Given the description of an element on the screen output the (x, y) to click on. 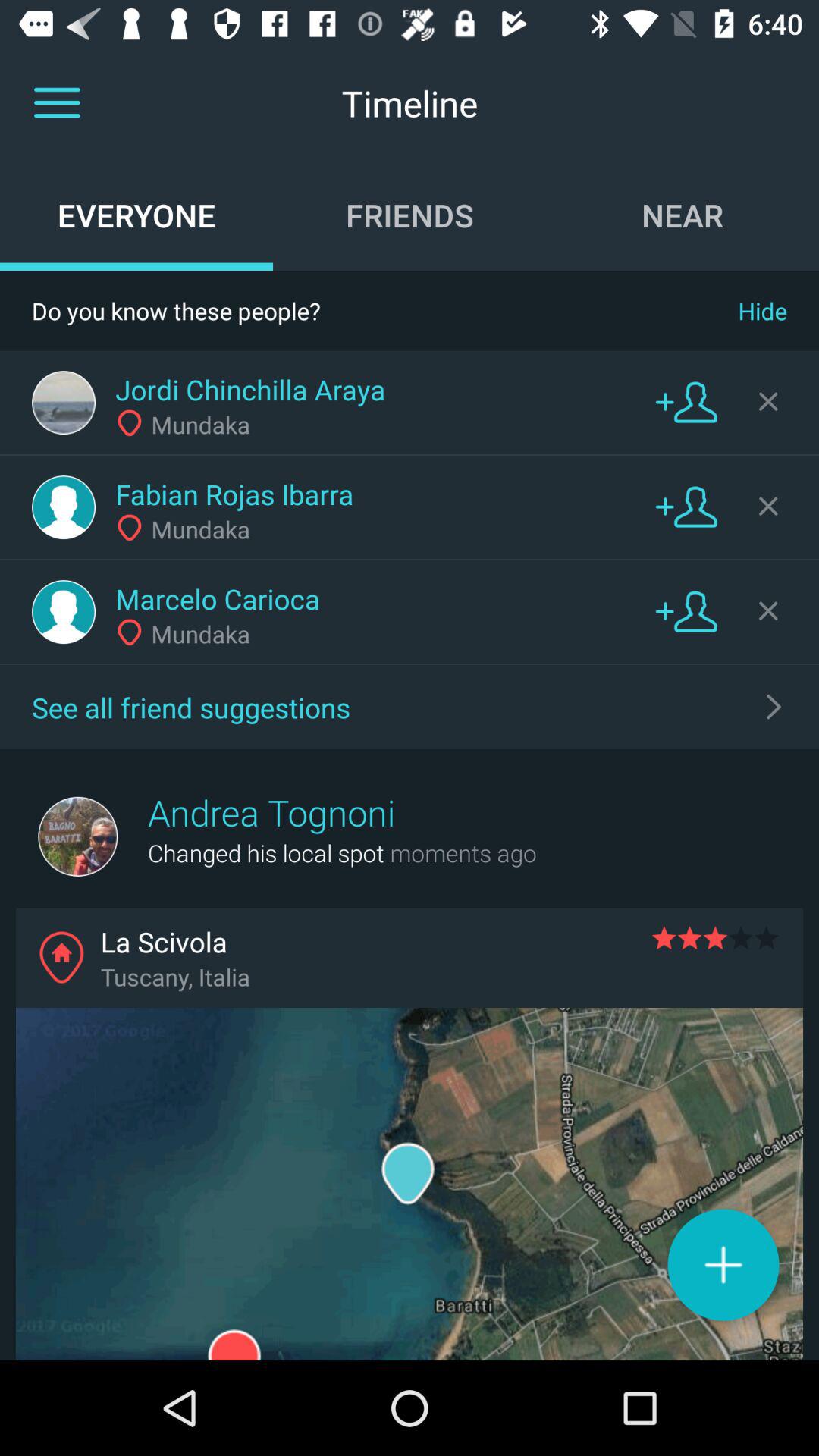
select the item to the left of near (409, 214)
